Given the description of an element on the screen output the (x, y) to click on. 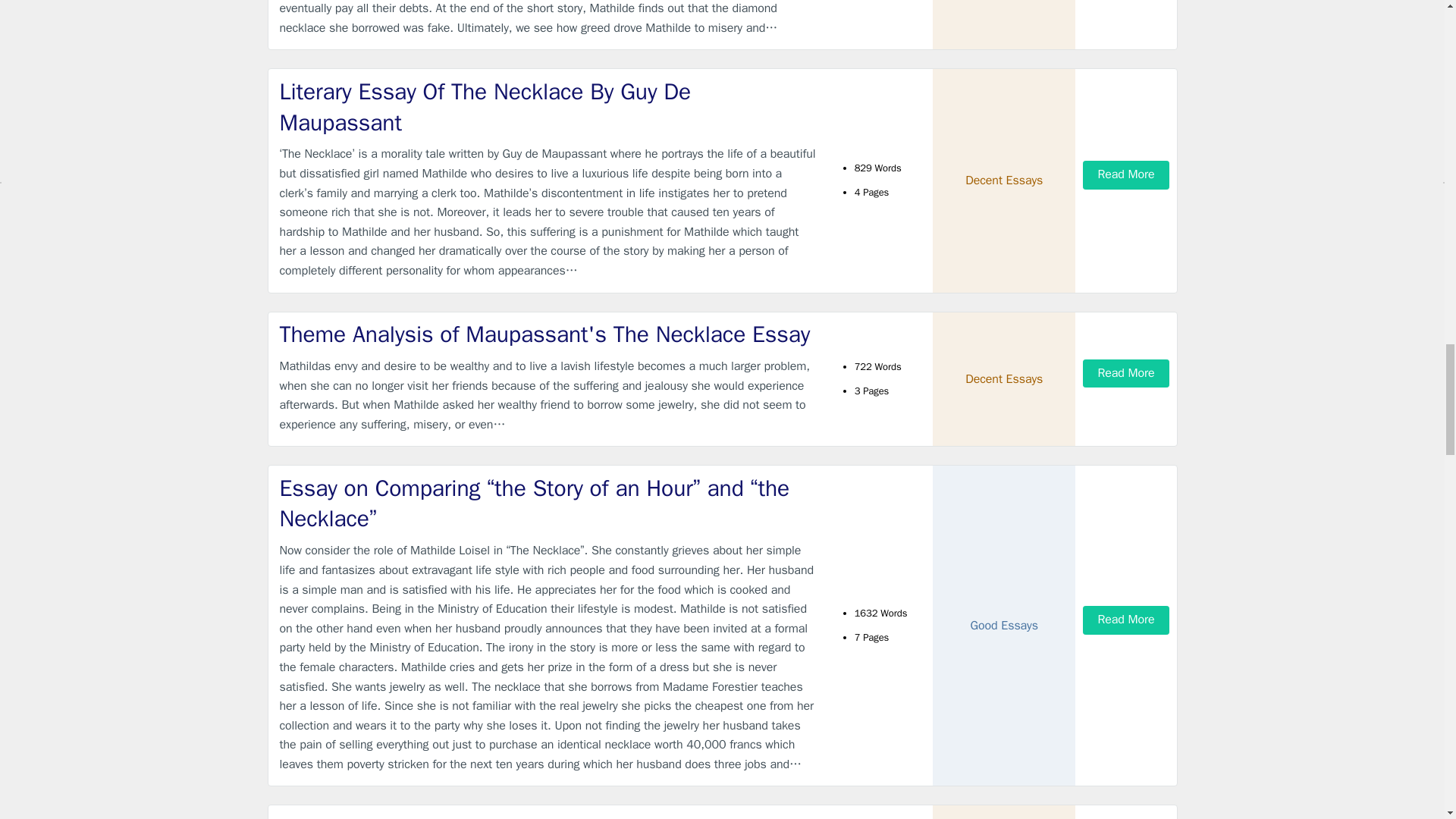
Read More (1126, 174)
Theme Analysis of Maupassant's The Necklace Essay (548, 334)
Literary Essay Of The Necklace By Guy De Maupassant (548, 107)
Read More (1126, 373)
